Given the description of an element on the screen output the (x, y) to click on. 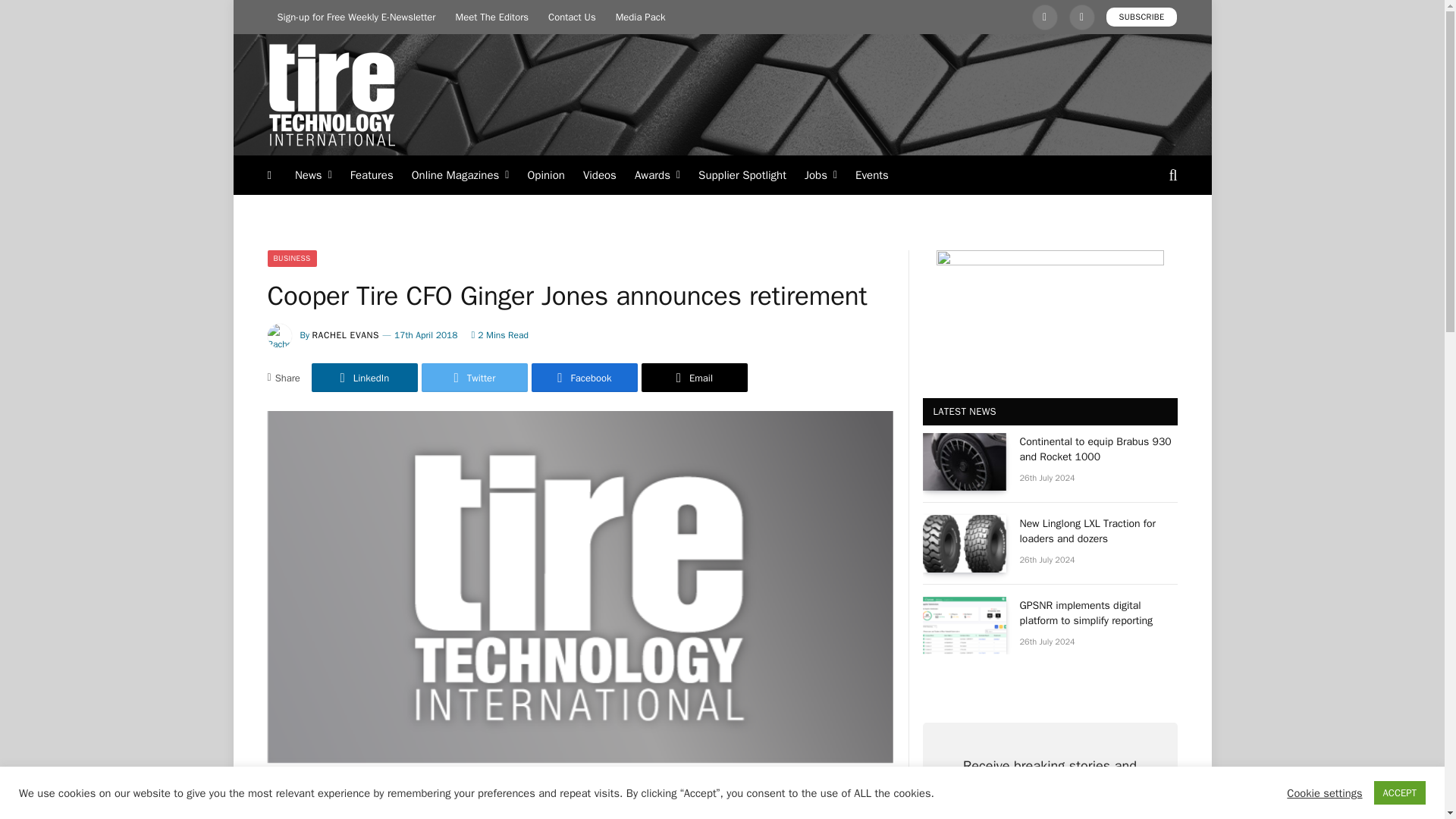
Tire Technology International (330, 94)
Share via Email (695, 377)
Share on LinkedIn (364, 377)
Share on Facebook (584, 377)
Share on Twitter (474, 377)
Posts by Rachel Evans (345, 335)
